Given the description of an element on the screen output the (x, y) to click on. 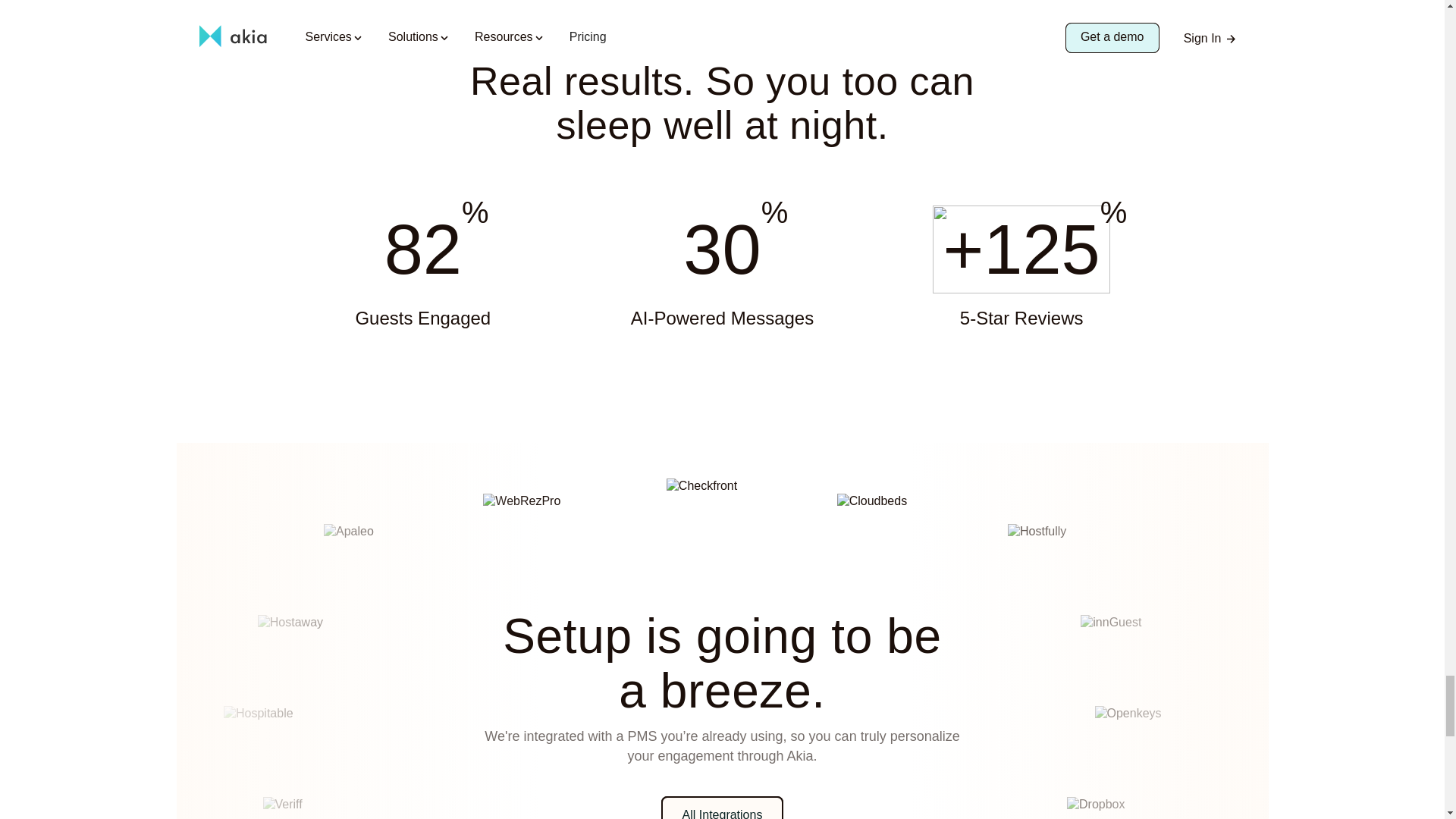
All Integrations (722, 807)
